Given the description of an element on the screen output the (x, y) to click on. 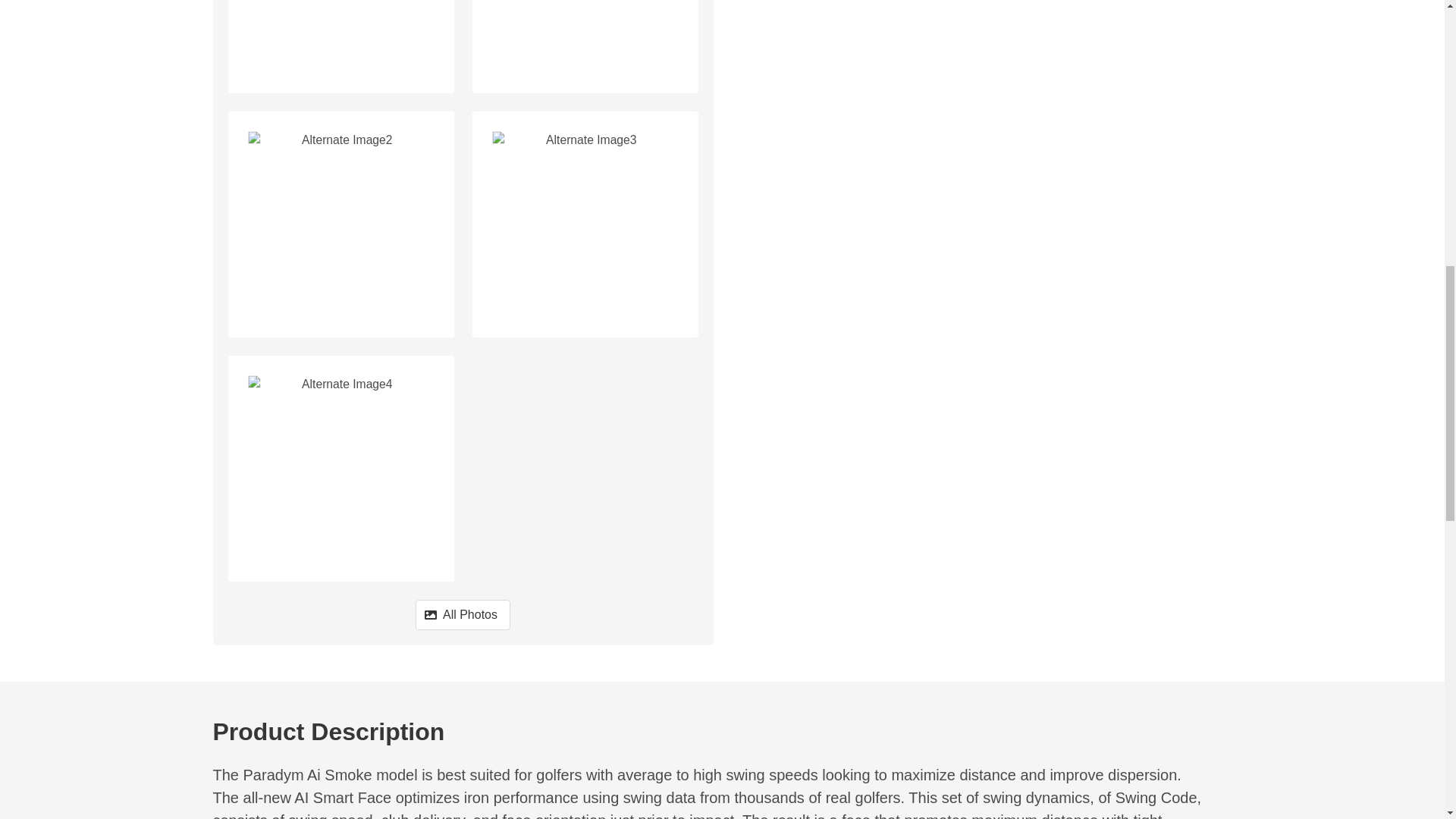
All Photos (462, 614)
